Given the description of an element on the screen output the (x, y) to click on. 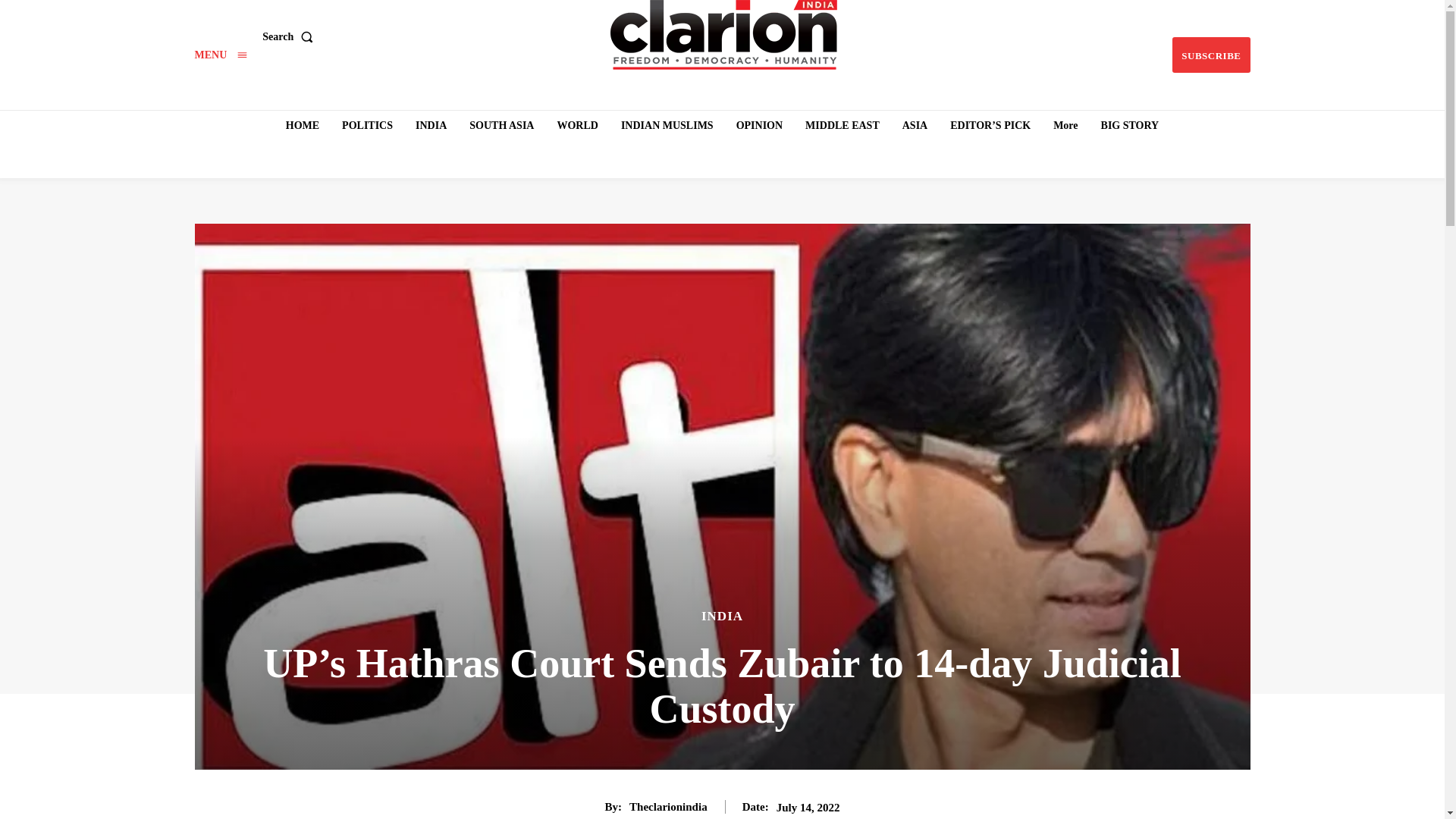
HOME (302, 125)
INDIA (430, 125)
ASIA (914, 125)
WORLD (576, 125)
More (1064, 125)
POLITICS (367, 125)
SUBSCRIBE (1210, 54)
MIDDLE EAST (841, 125)
Search (290, 37)
Subscribe (1210, 54)
